Given the description of an element on the screen output the (x, y) to click on. 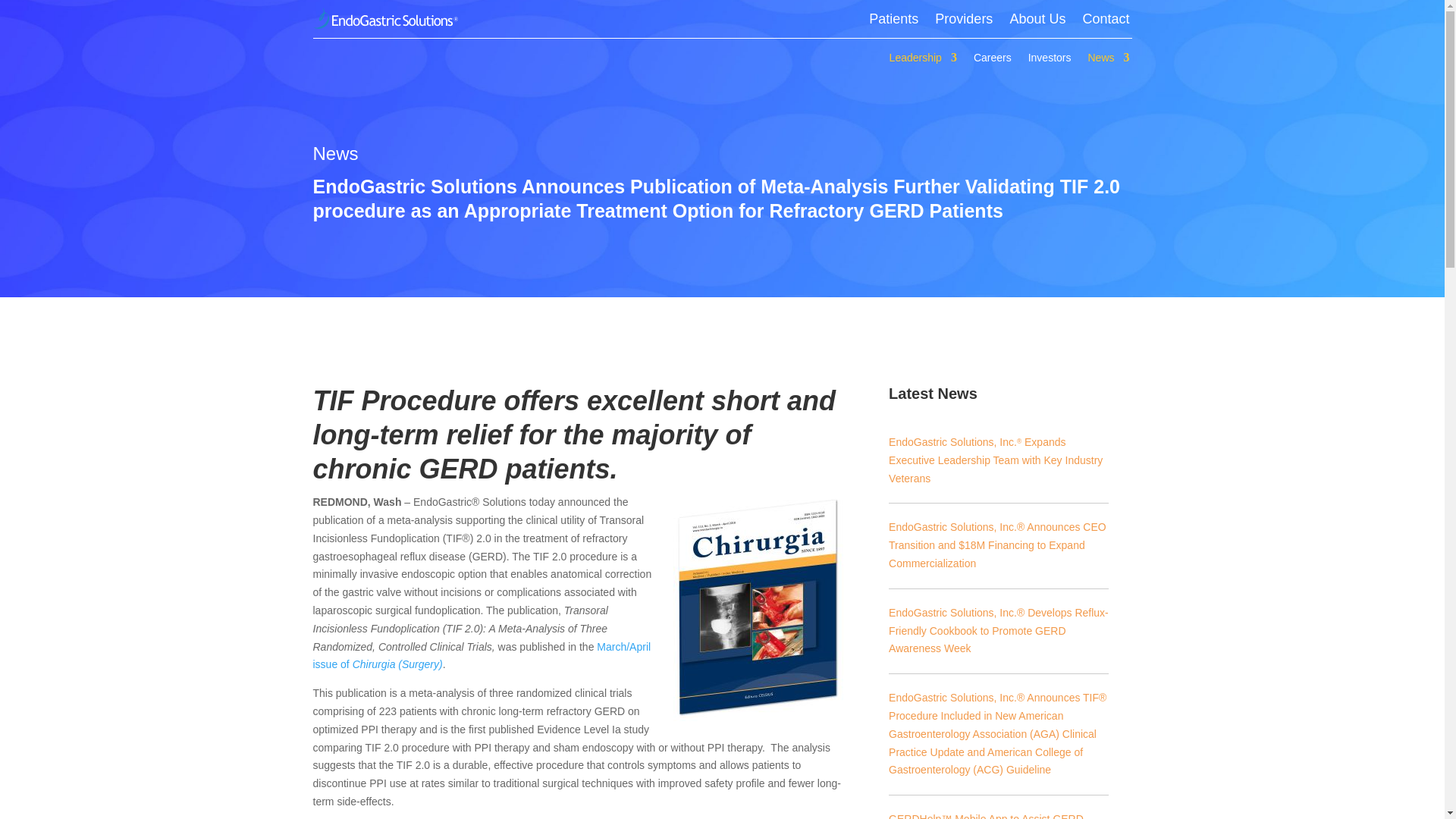
Careers (992, 60)
logo-endogastric-solutions-white (385, 17)
Patients (893, 21)
About Us (1037, 21)
Contact (1105, 21)
Providers (963, 21)
Leadership (922, 60)
Investors (1049, 60)
News (1108, 60)
